Given the description of an element on the screen output the (x, y) to click on. 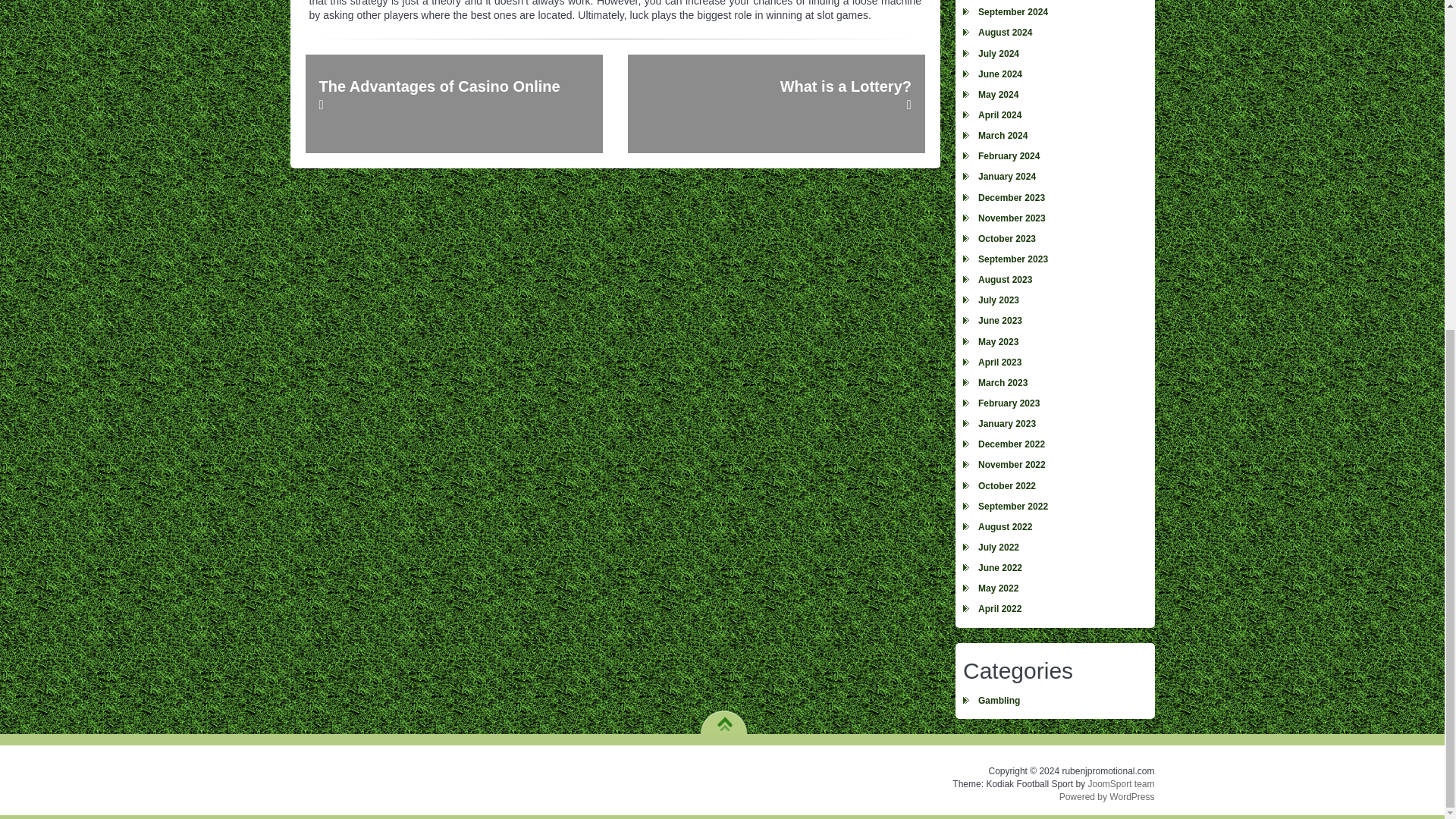
May 2023 (1054, 342)
January 2023 (1054, 424)
March 2023 (1054, 383)
September 2024 (1054, 12)
August 2024 (1054, 32)
The Advantages of Casino Online (453, 103)
March 2024 (1054, 136)
May 2024 (1054, 95)
April 2024 (1054, 115)
August 2022 (1054, 526)
